Given the description of an element on the screen output the (x, y) to click on. 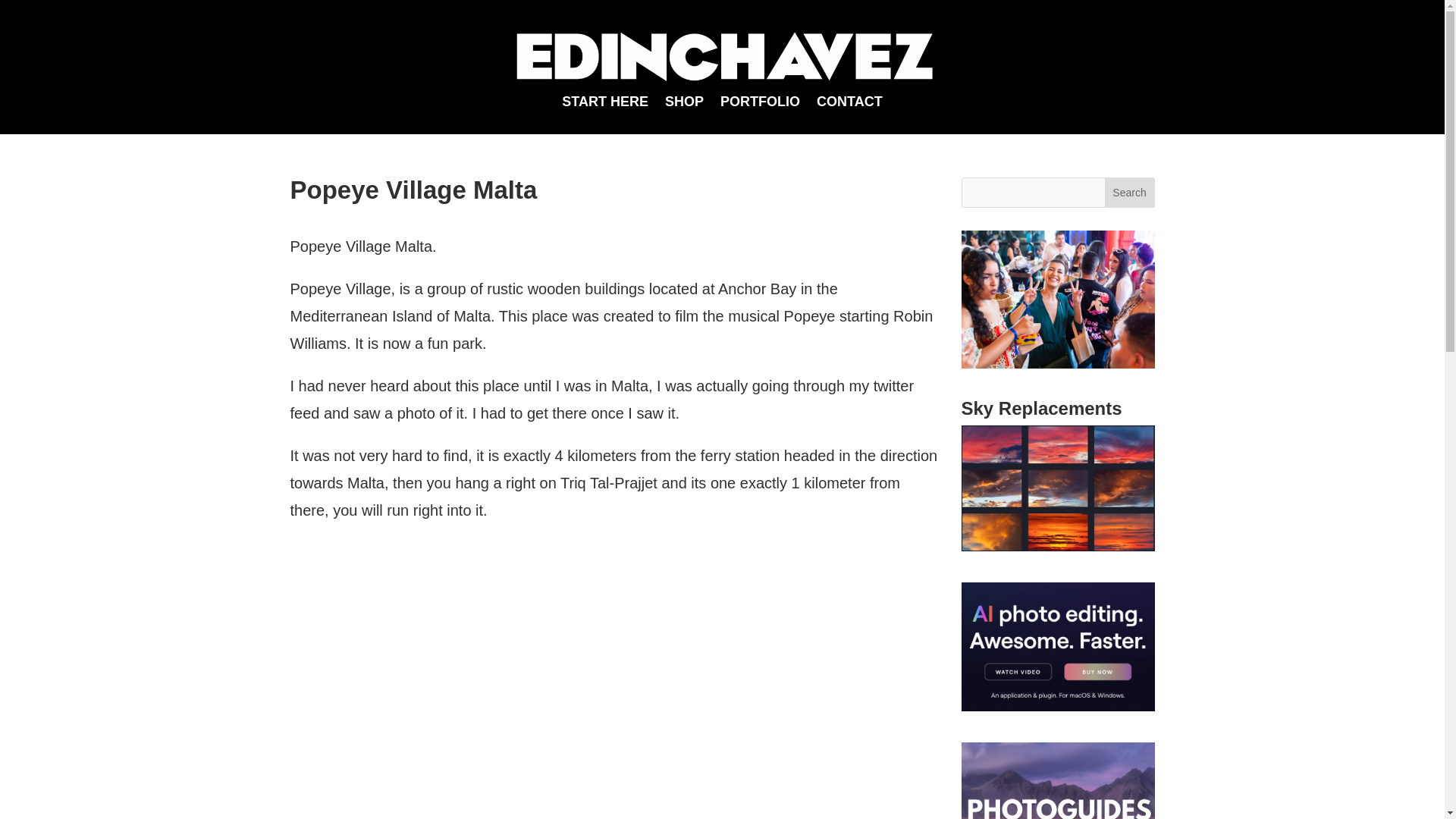
PORTFOLIO (759, 103)
Sky Replacements (1057, 488)
START HERE (604, 103)
Search (1129, 192)
EDINCHAVEZLOGOblog (722, 57)
CONTACT (849, 103)
SHOP (684, 103)
